Given the description of an element on the screen output the (x, y) to click on. 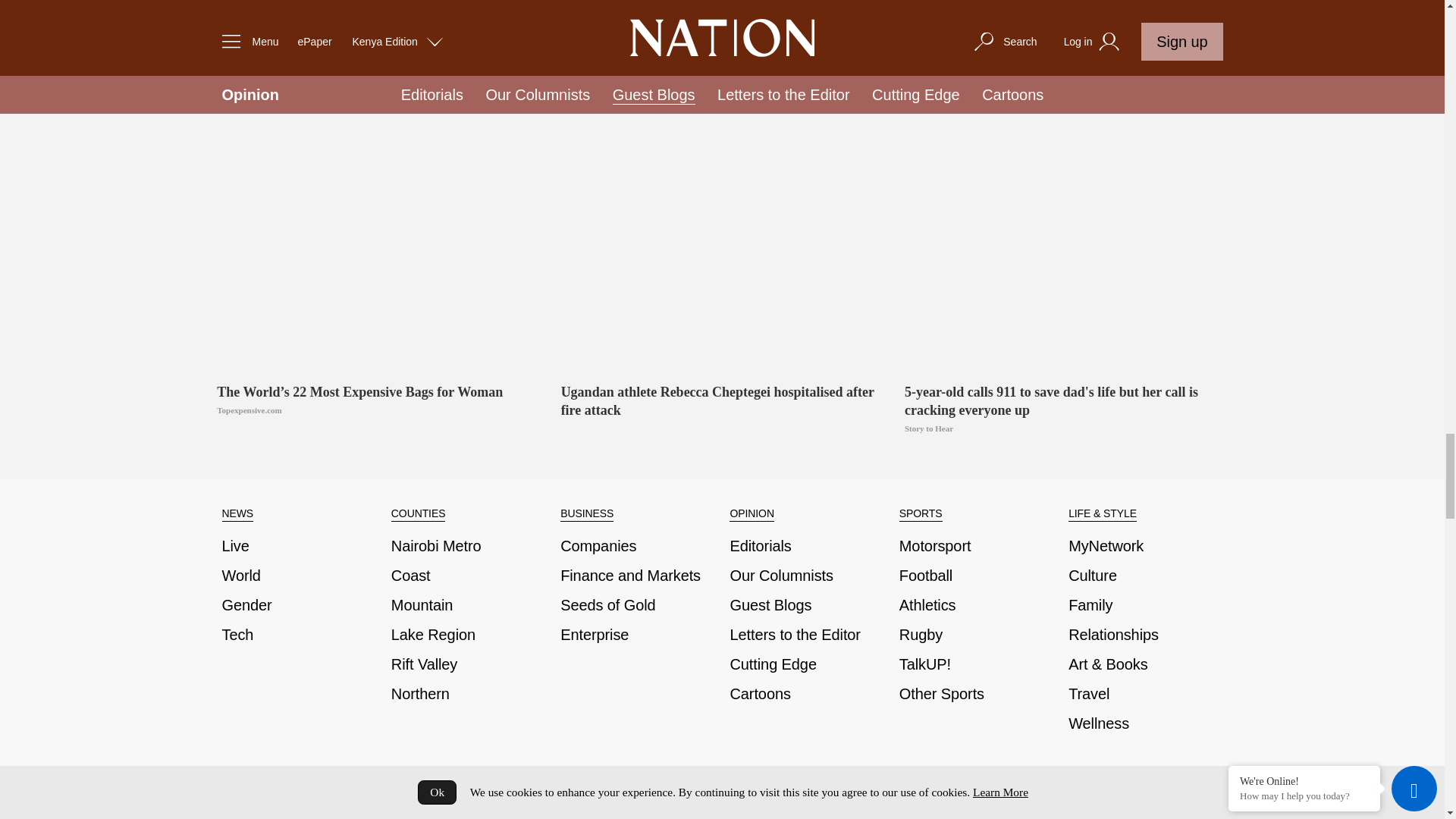
The Olsen Twins Are Not Like We Remember (1065, 52)
